Given the description of an element on the screen output the (x, y) to click on. 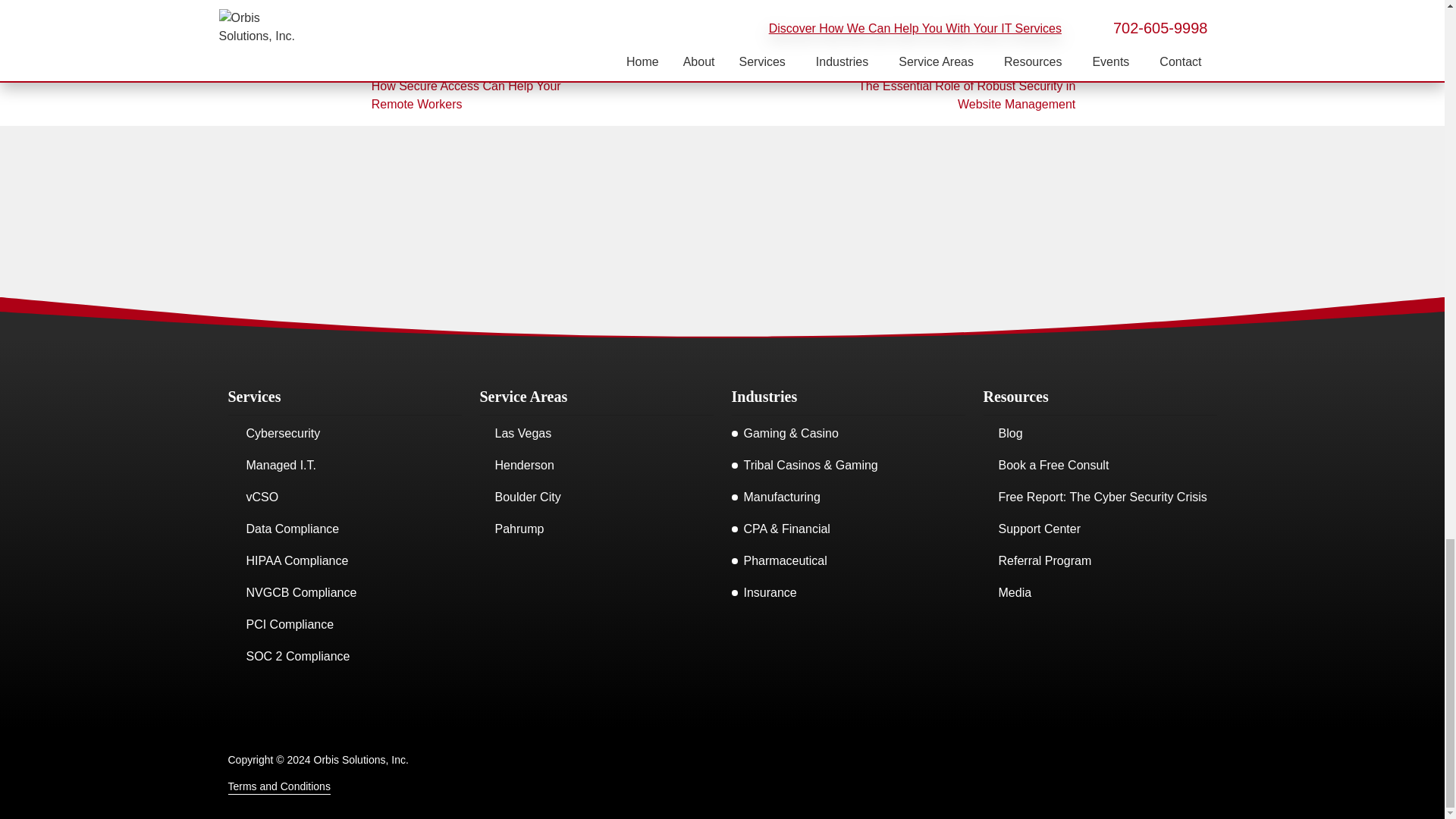
Facebook (671, 773)
YouTube (738, 773)
LinkedIn (772, 773)
